Given the description of an element on the screen output the (x, y) to click on. 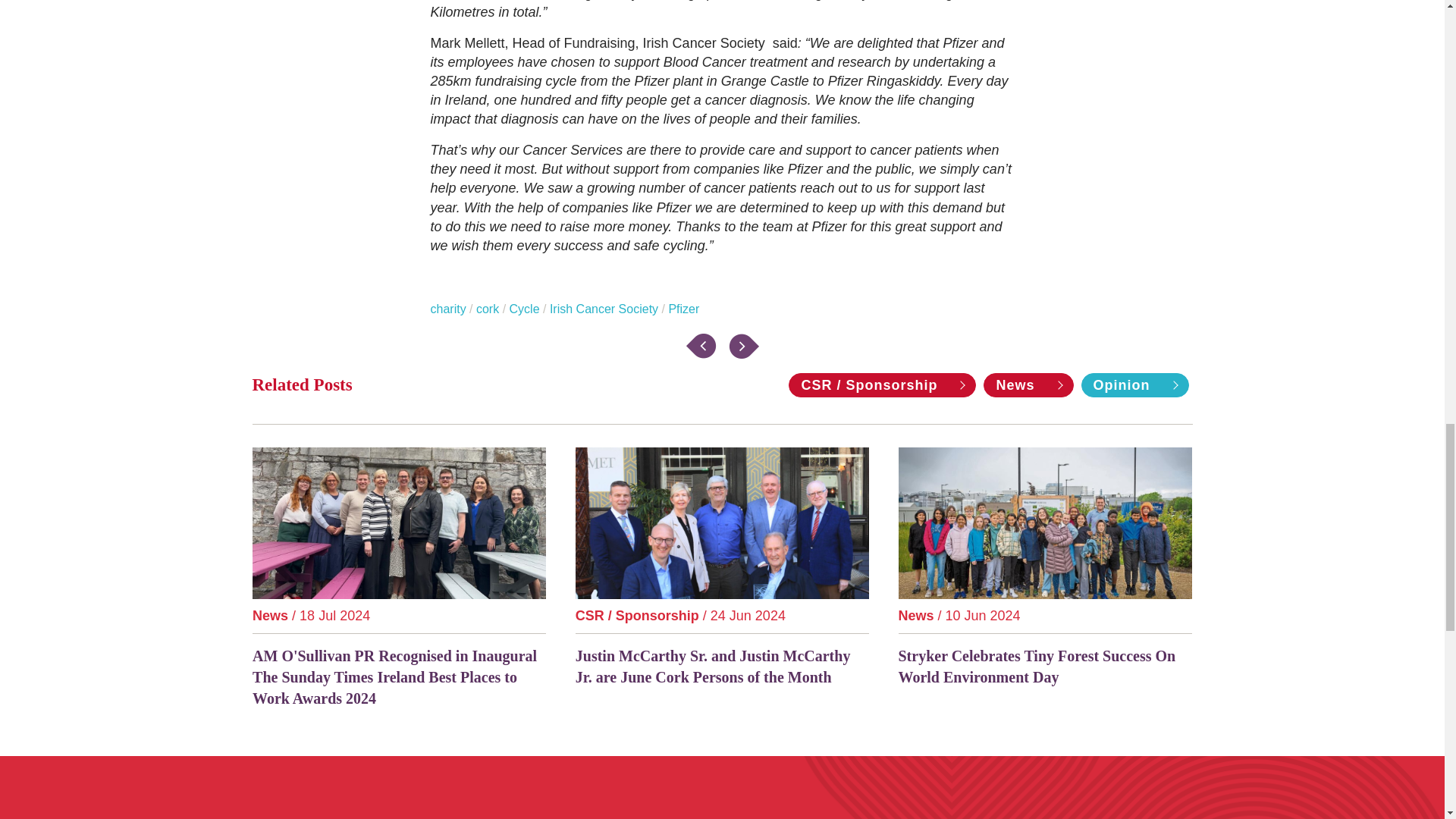
cork (487, 308)
Opinion (1135, 385)
Pfizer (683, 308)
charity (447, 308)
Cycle (524, 308)
Irish Cancer Society (604, 308)
Hovione celebrates its 60th Anniversary in Cork (743, 345)
News (1028, 385)
